Given the description of an element on the screen output the (x, y) to click on. 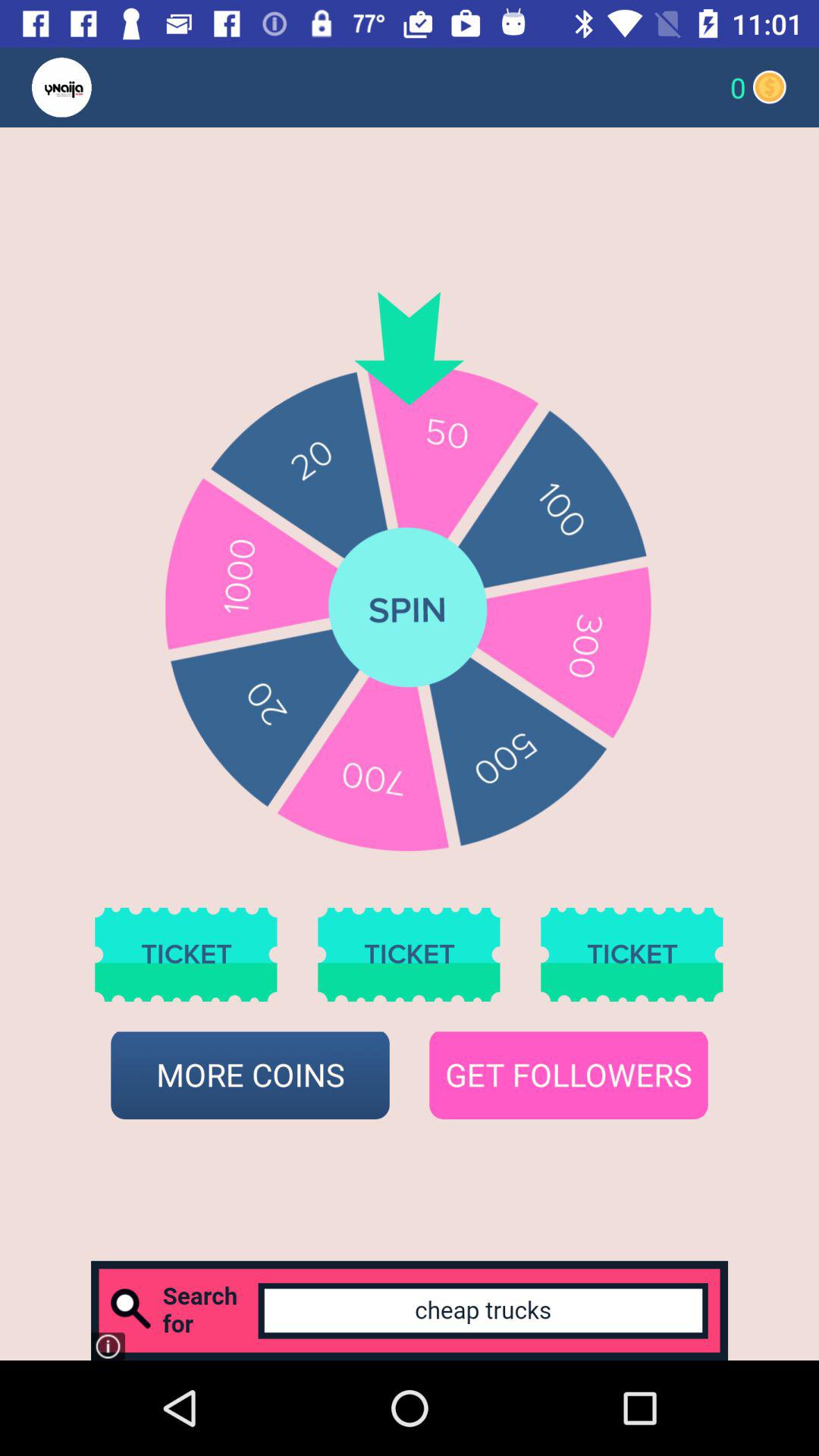
button for advertisement (409, 1310)
